Given the description of an element on the screen output the (x, y) to click on. 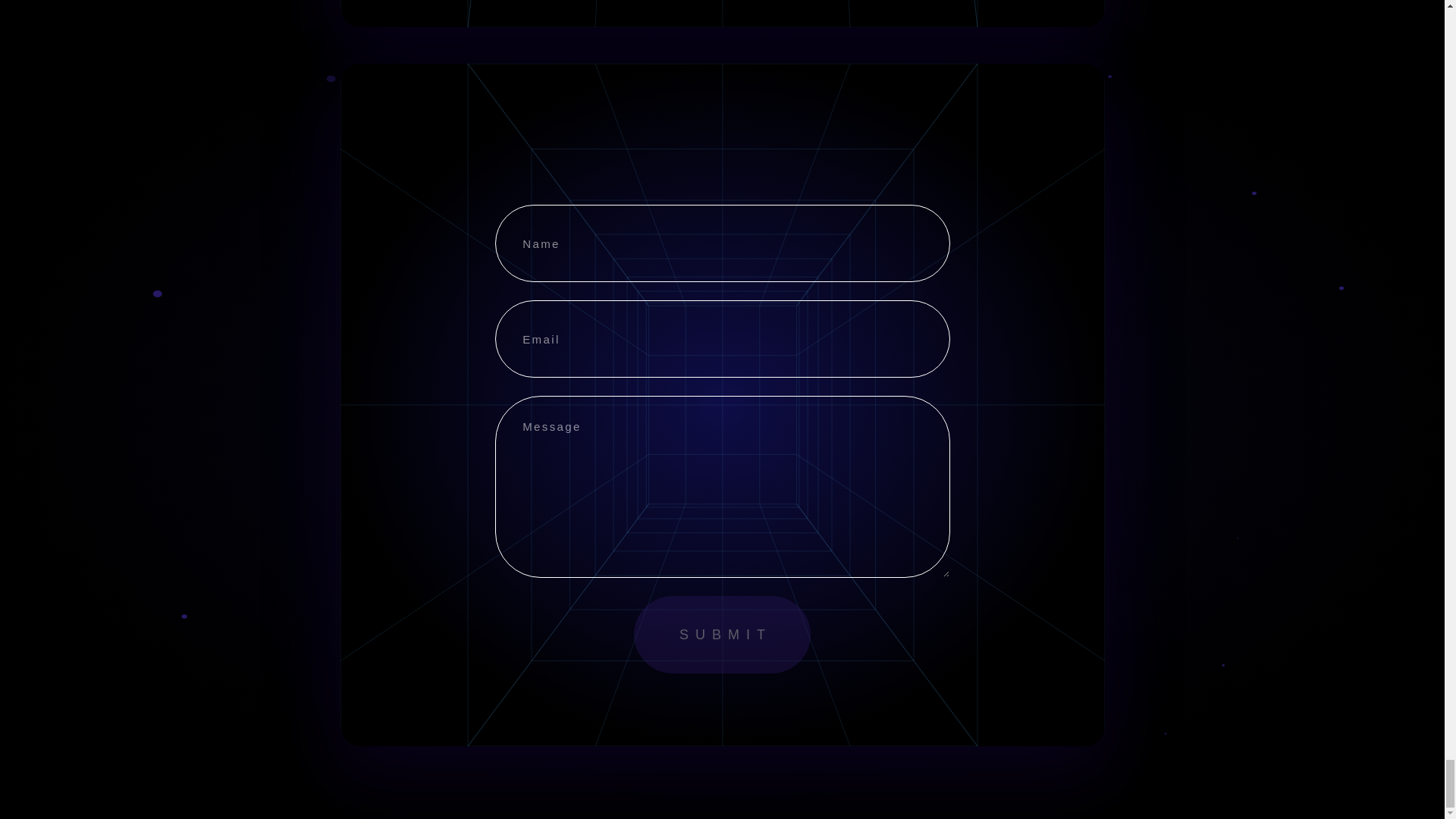
SUBMIT (721, 634)
